Given the description of an element on the screen output the (x, y) to click on. 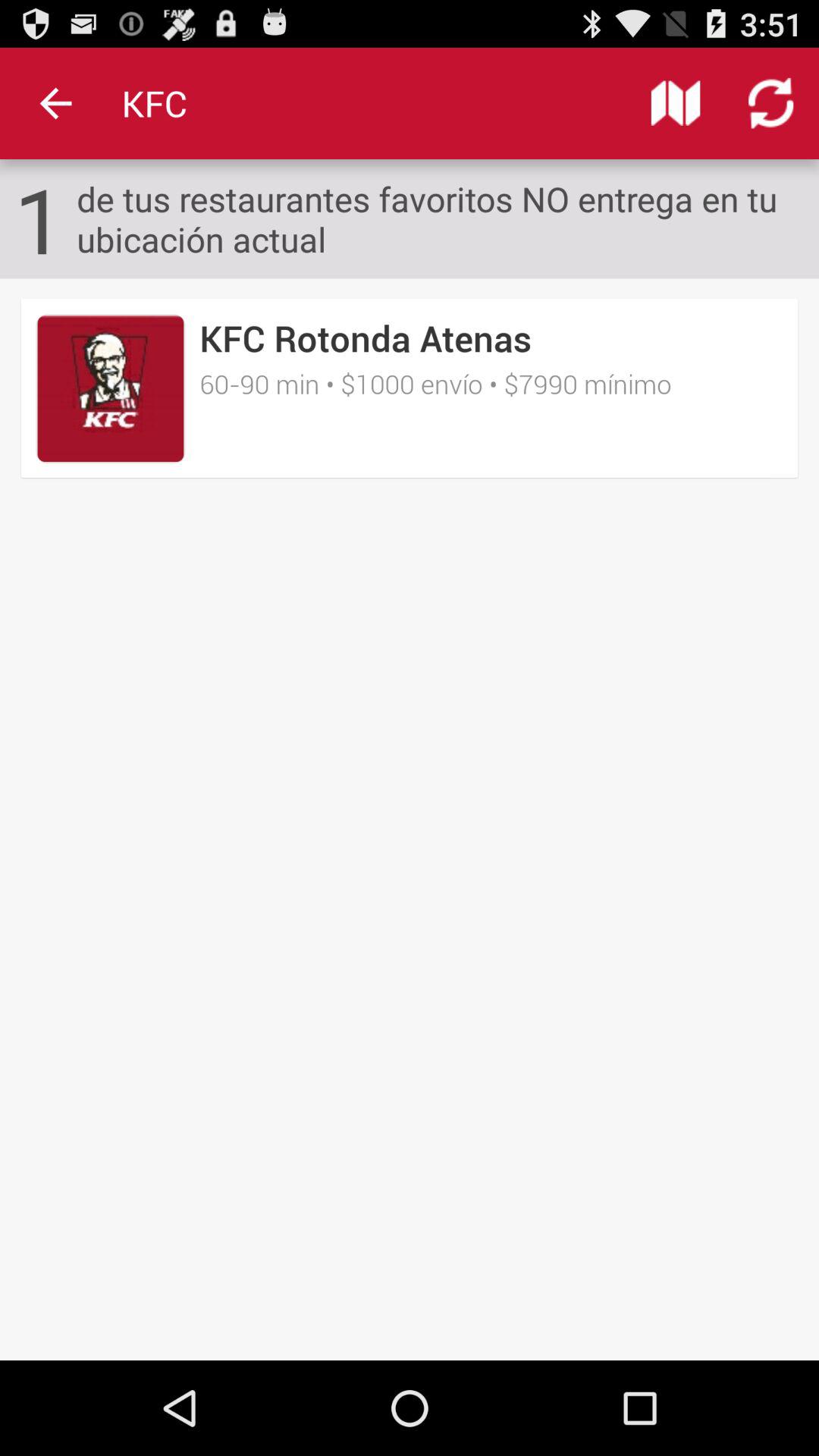
flip to 1 (39, 218)
